Given the description of an element on the screen output the (x, y) to click on. 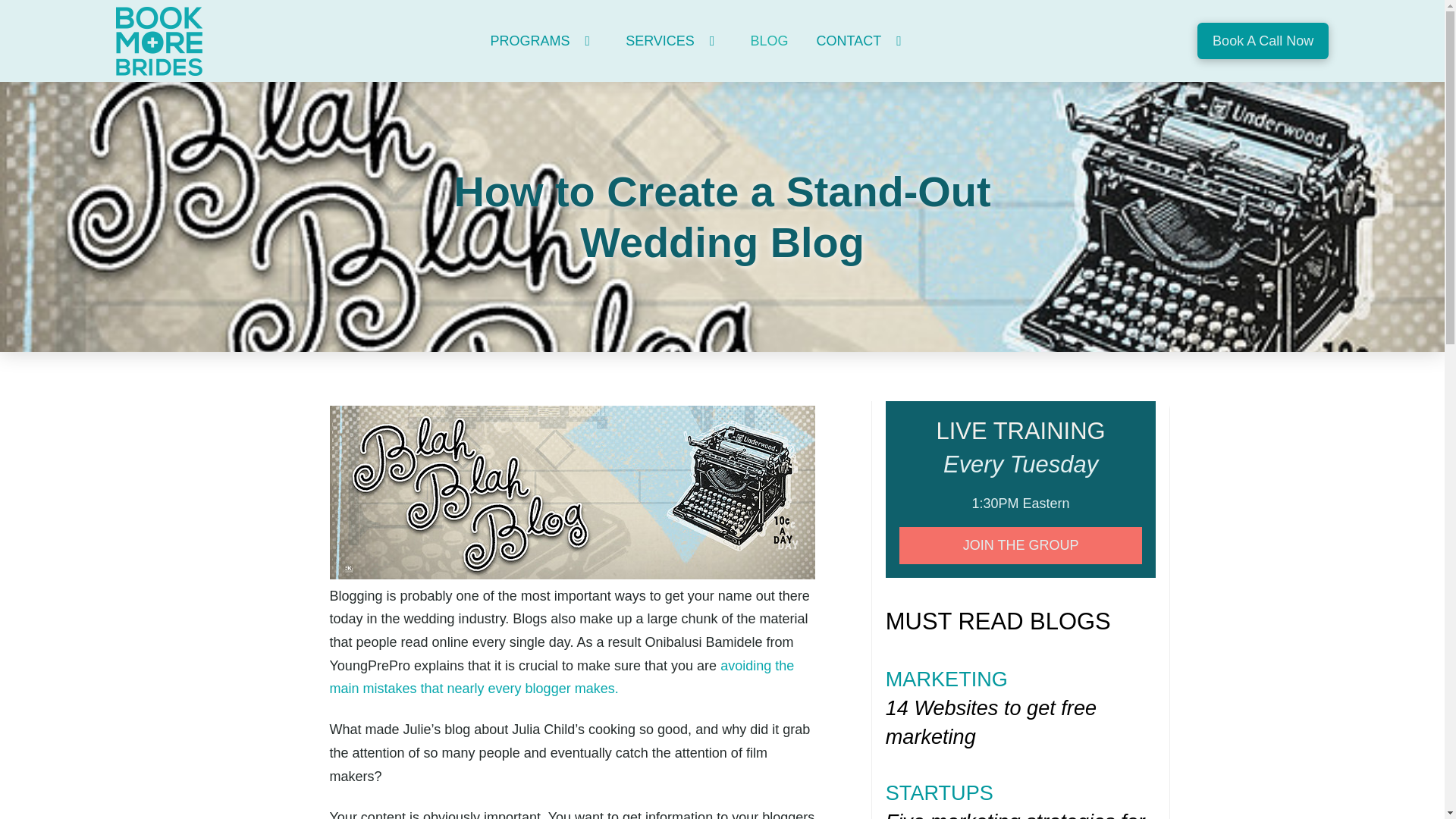
14 Websites to get free marketing (1020, 722)
avoiding the main mistakes that nearly every blogger makes. (561, 677)
JOIN THE GROUP (1020, 545)
BLOG (769, 40)
CONTACT (862, 40)
SERVICES (673, 40)
PROGRAMS (543, 40)
Signs Your Blog Is Bound To Fail (561, 677)
Book A Call Now (1262, 40)
